Given the description of an element on the screen output the (x, y) to click on. 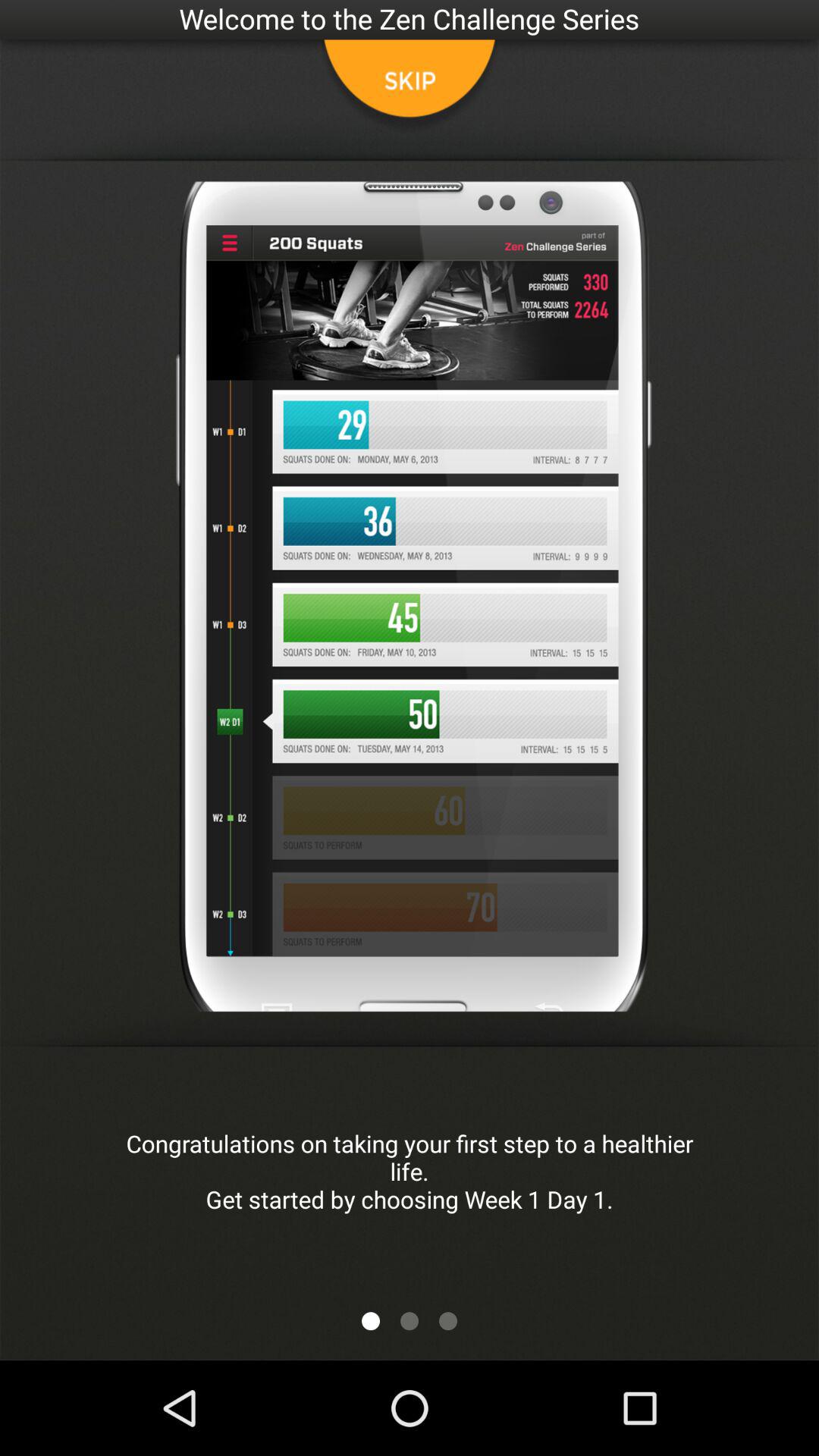
display first image (370, 1321)
